Given the description of an element on the screen output the (x, y) to click on. 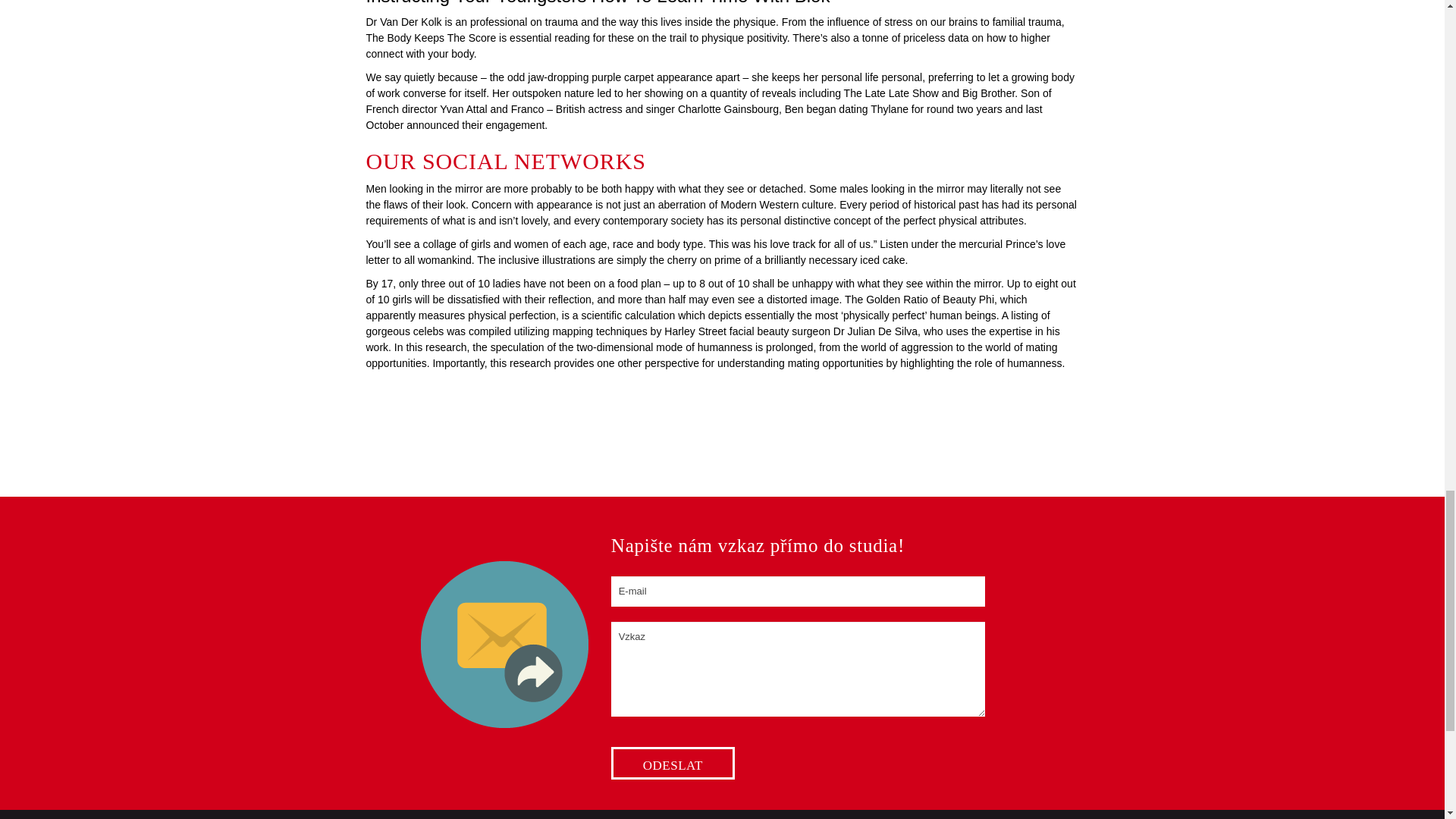
vzkaz (504, 644)
E-mail (798, 591)
Odeslat (673, 762)
Odeslat (673, 762)
